Given the description of an element on the screen output the (x, y) to click on. 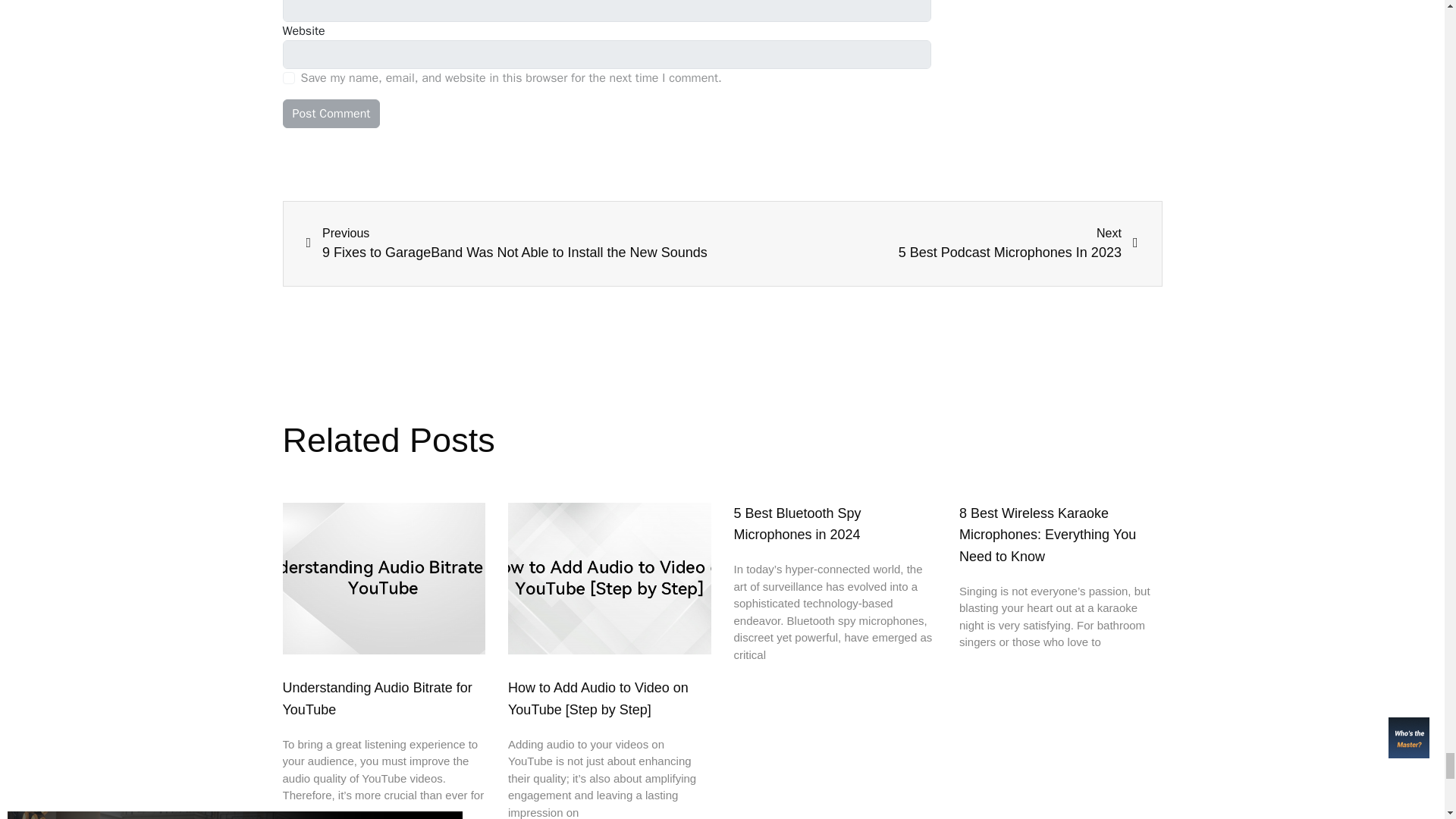
Post Comment (331, 113)
yes (288, 78)
